Given the description of an element on the screen output the (x, y) to click on. 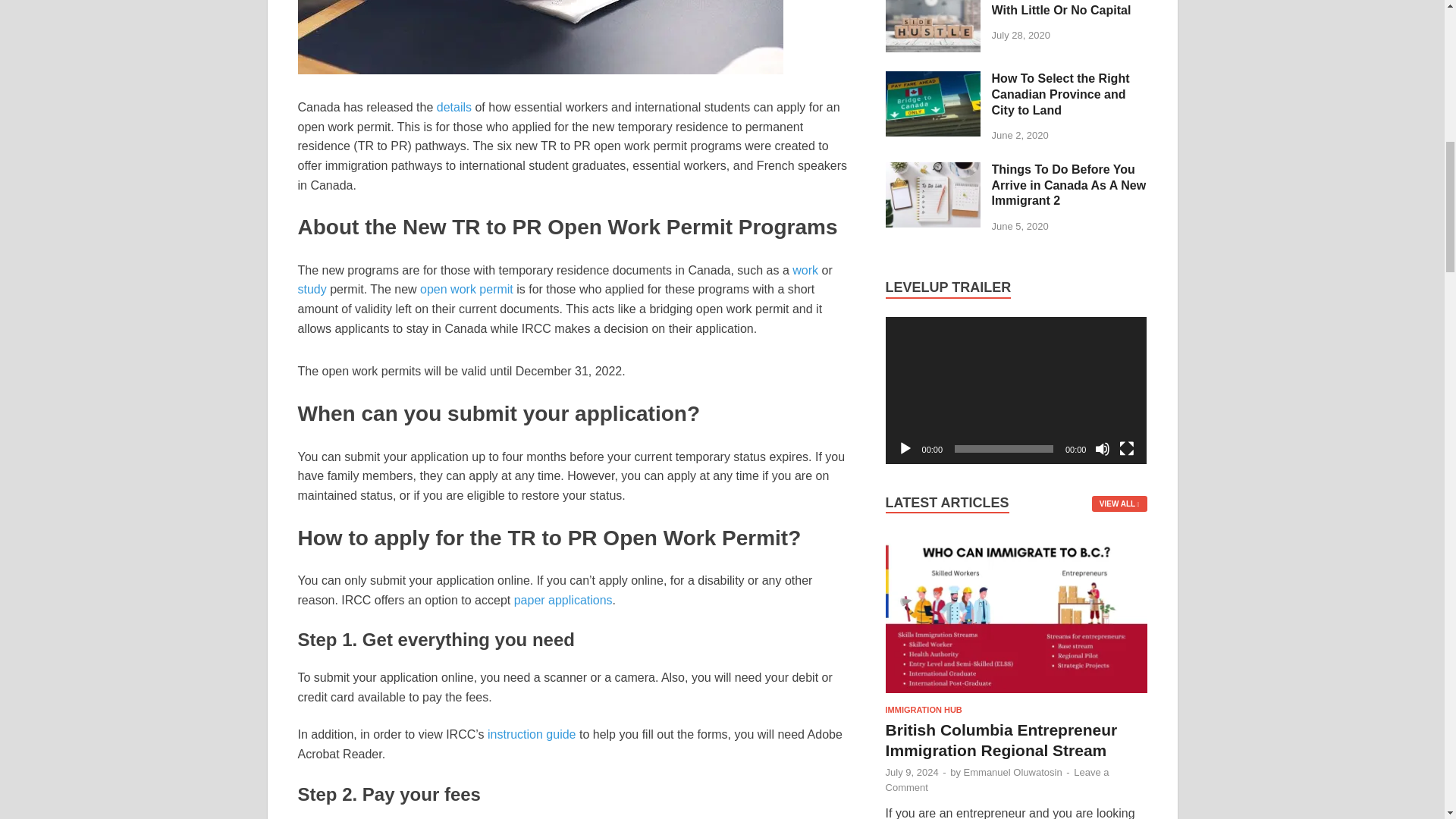
How To Select the Right Canadian Province and City to Land (932, 79)
14 Businesses To Start With Little Or No Capital (932, 1)
